Given the description of an element on the screen output the (x, y) to click on. 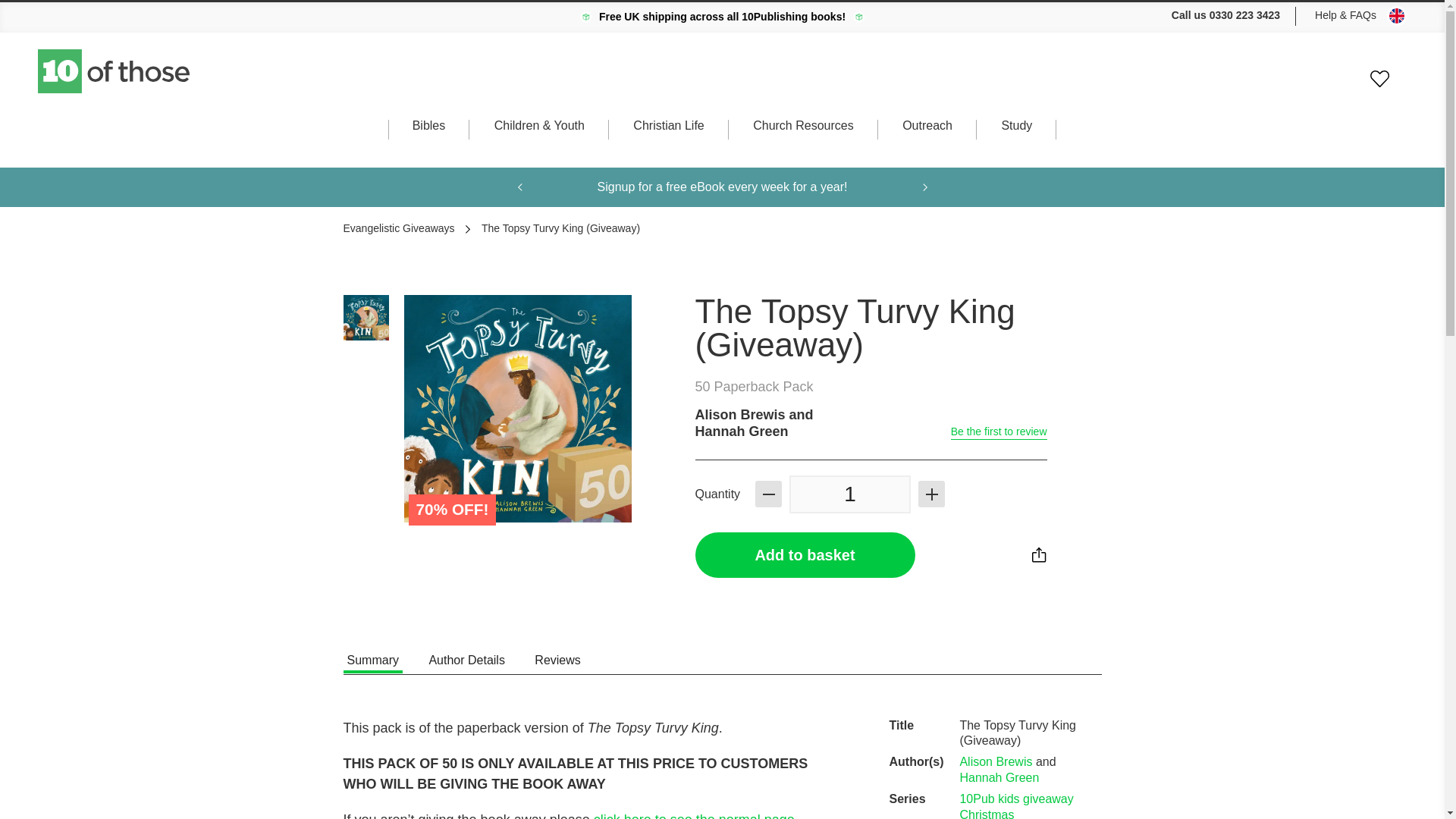
0330 223 3423 (1244, 15)
1 (850, 494)
Favourites (1379, 78)
10 of those (114, 71)
Christian Life (668, 140)
Free UK shipping across all 10Publishing books! (721, 16)
